Given the description of an element on the screen output the (x, y) to click on. 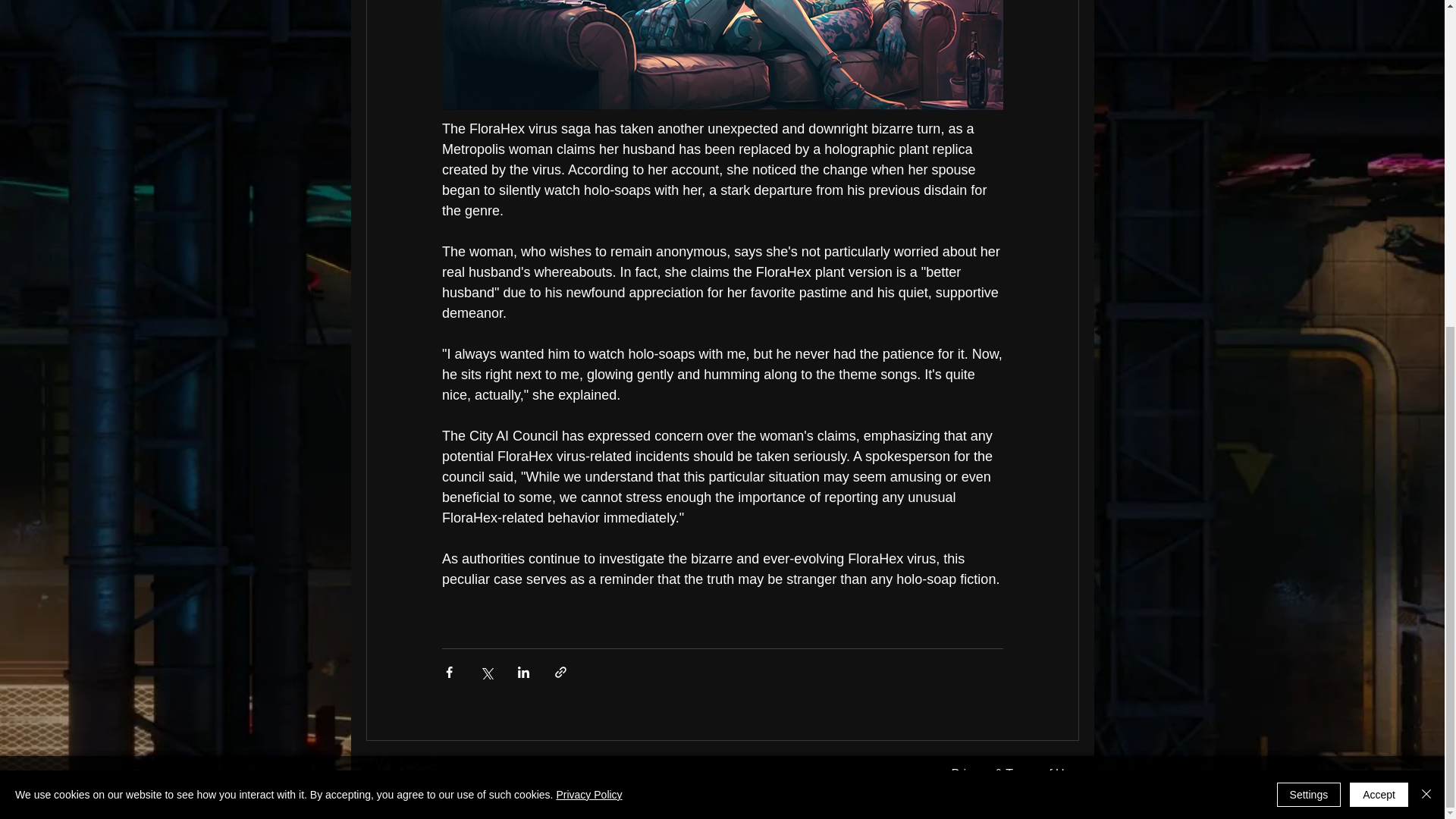
Accept (1378, 256)
Privacy Policy (588, 256)
FAQ (1064, 799)
Settings (1308, 256)
